Given the description of an element on the screen output the (x, y) to click on. 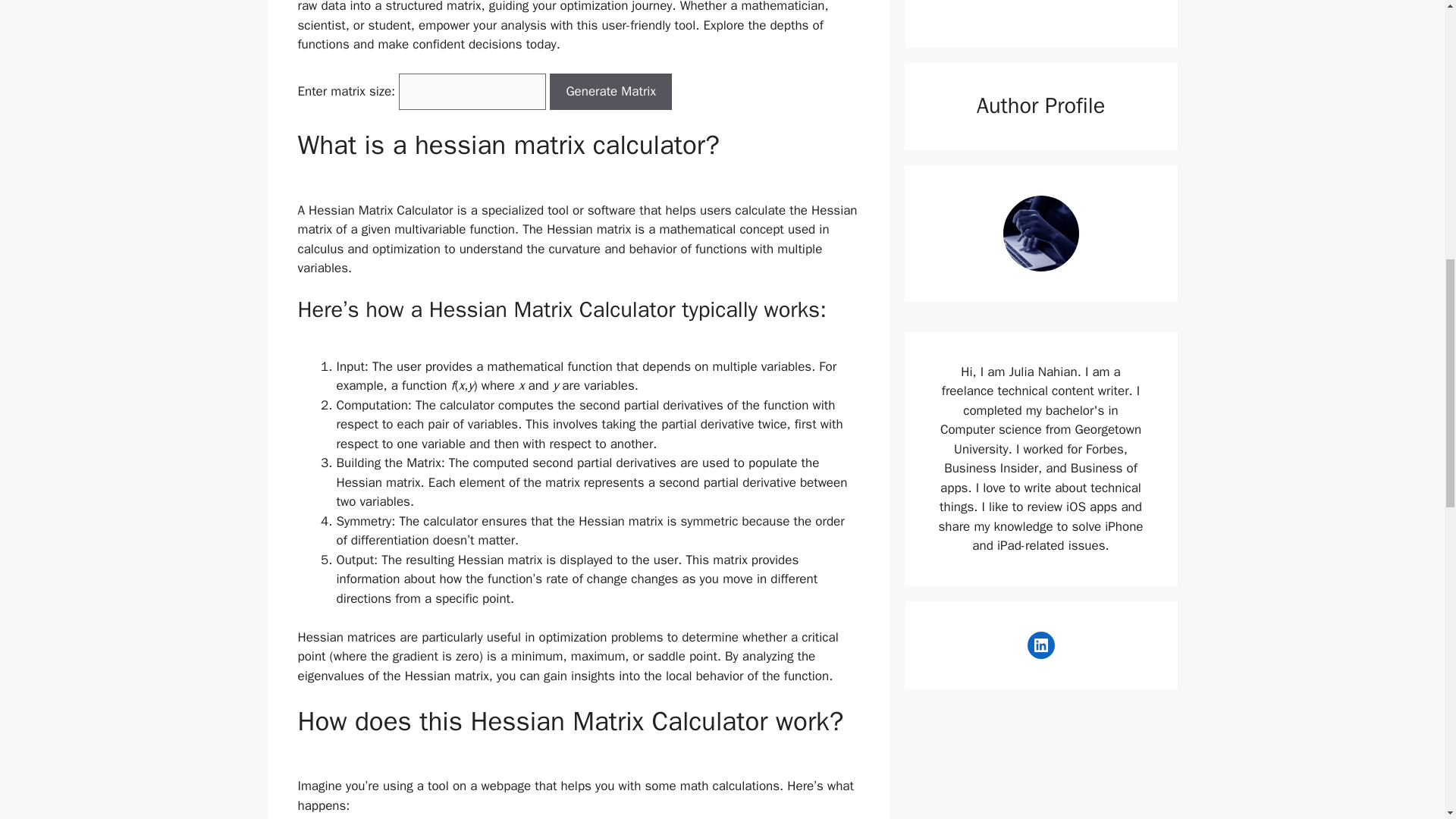
Generate Matrix (610, 91)
LinkedIn (1040, 645)
